Given the description of an element on the screen output the (x, y) to click on. 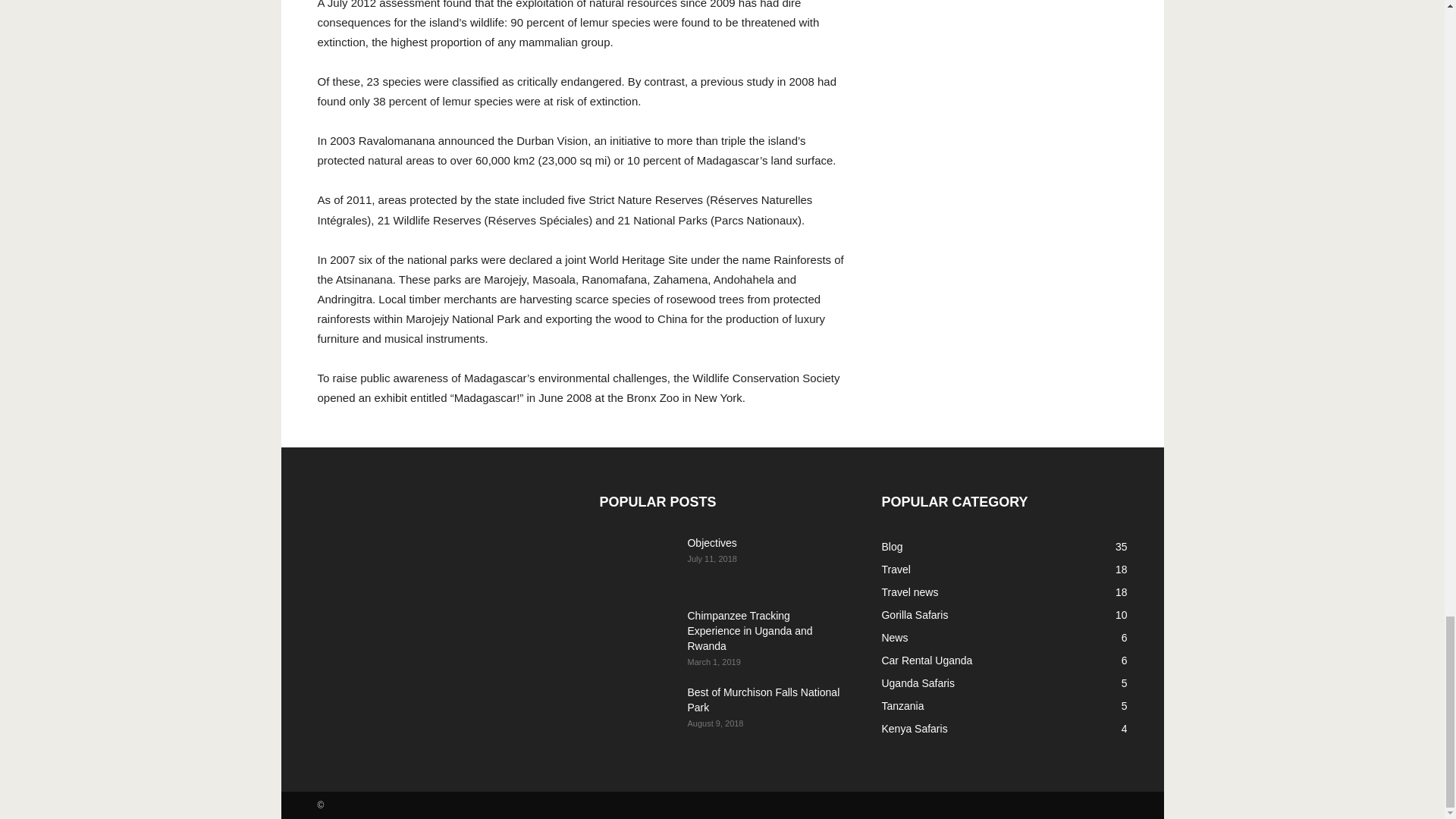
Chimpanzee Tracking Experience in Uganda and Rwanda (636, 634)
Objectives (711, 542)
Objectives (636, 561)
Best of Murchison Falls National Park (636, 710)
Chimpanzee Tracking Experience in Uganda and Rwanda (749, 630)
Best of Murchison Falls National Park (763, 699)
